Given the description of an element on the screen output the (x, y) to click on. 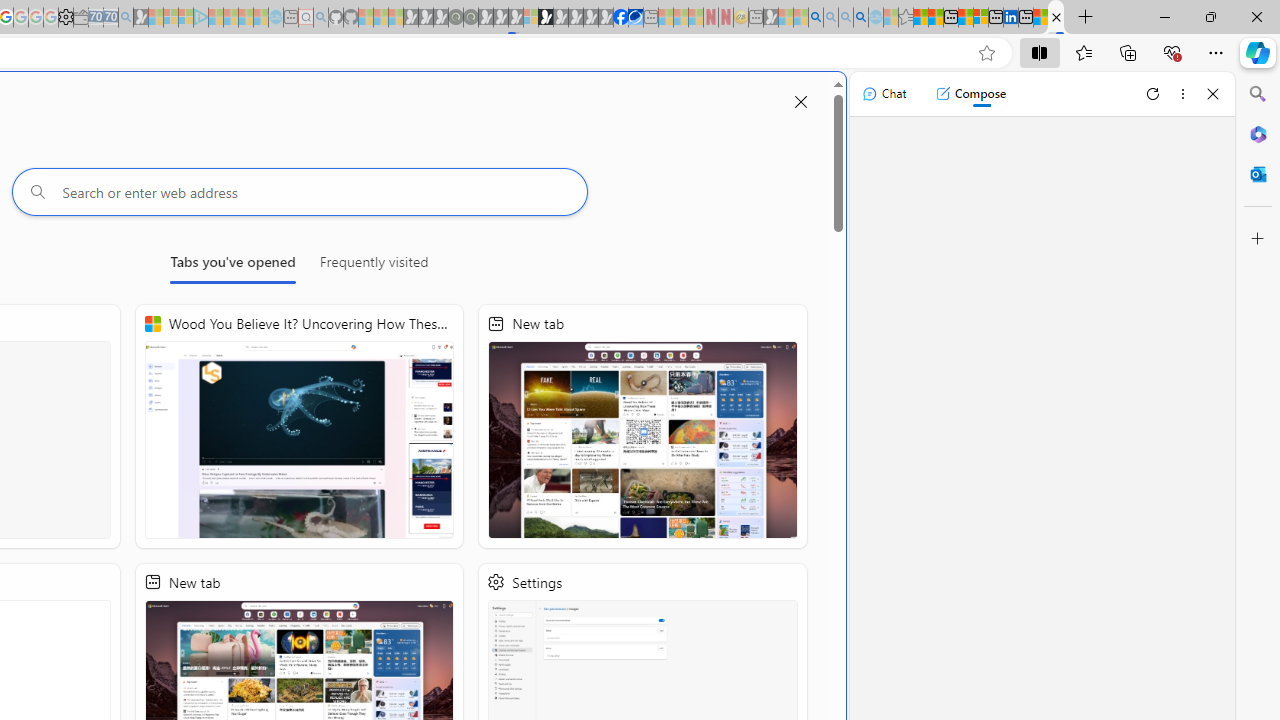
Favorites - Sleeping (905, 17)
Compose (970, 93)
